Given the description of an element on the screen output the (x, y) to click on. 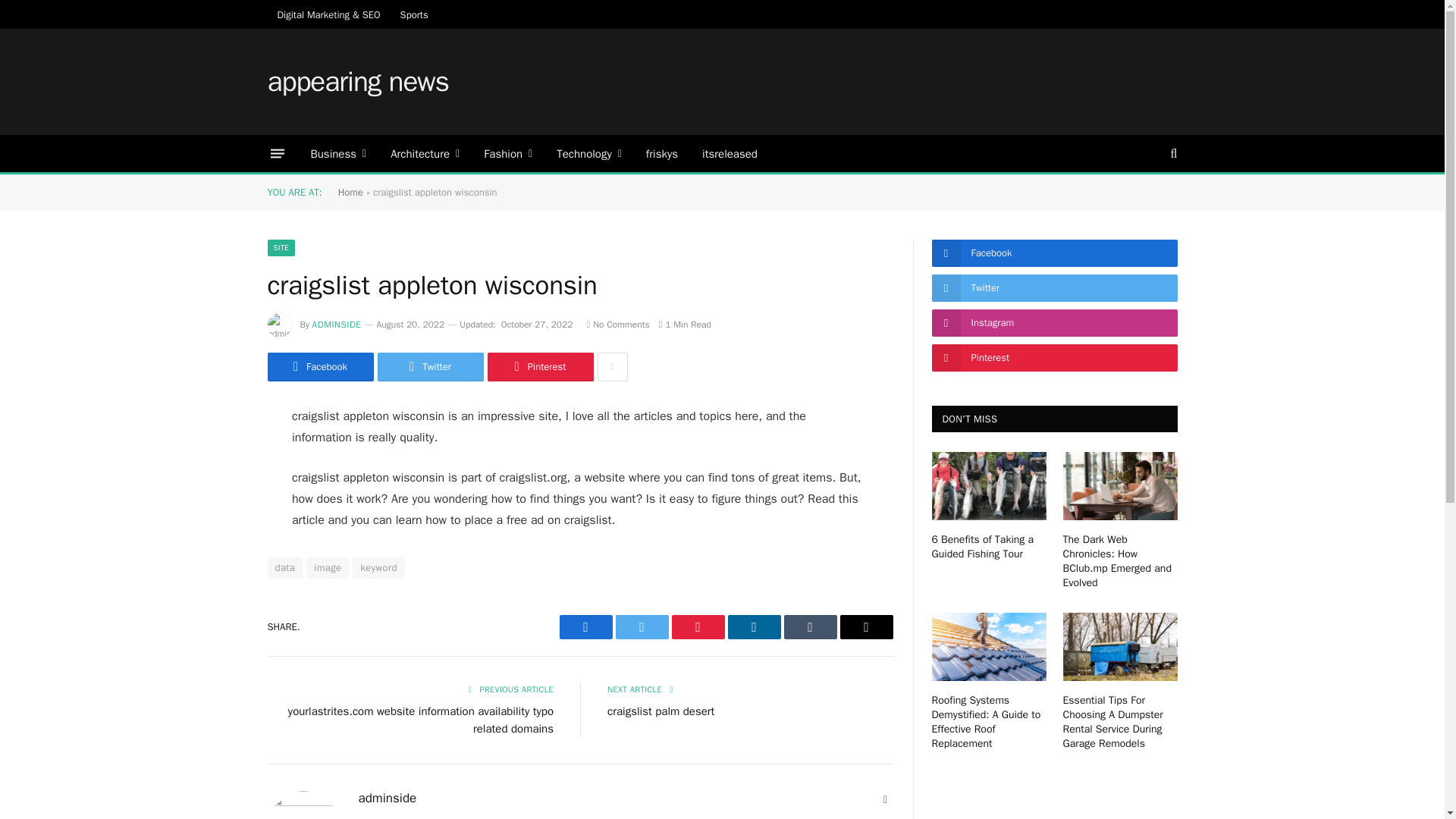
Show More Social Sharing (611, 366)
appearing news (357, 81)
Posts by adminside (337, 324)
appearing news (357, 81)
Business (338, 153)
Architecture (424, 153)
Share on Pinterest (539, 366)
Sports (414, 14)
Share on Facebook (319, 366)
